Given the description of an element on the screen output the (x, y) to click on. 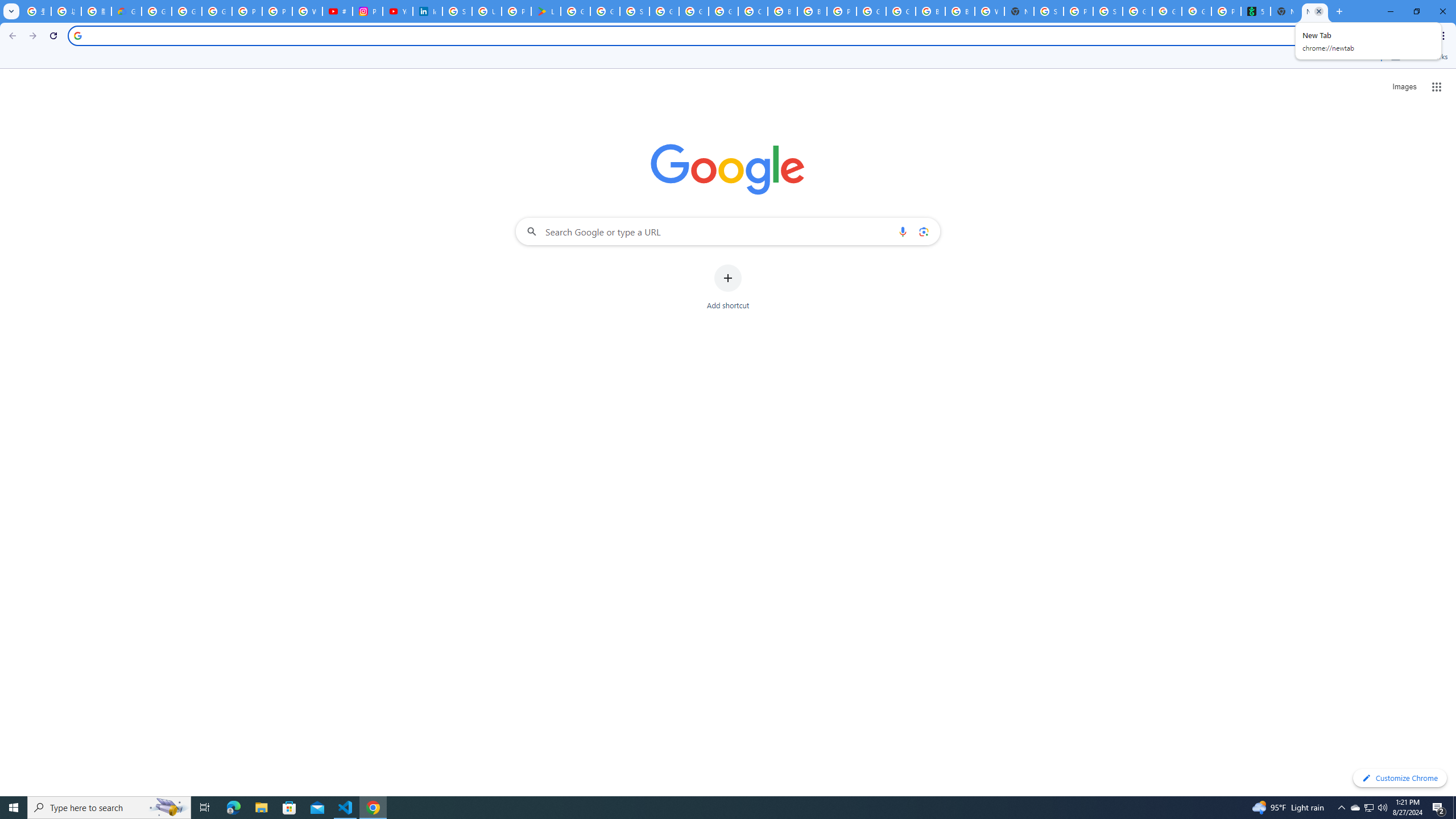
Forward (32, 35)
Restore (1416, 11)
Back (10, 35)
Search icon (77, 35)
Add shortcut (727, 287)
Browse Chrome as a guest - Computer - Google Chrome Help (930, 11)
System (6, 6)
YouTube Culture & Trends - On The Rise: Handcam Videos (397, 11)
Search for Images  (1403, 87)
Sign in - Google Accounts (456, 11)
Google Cloud Platform (900, 11)
